Given the description of an element on the screen output the (x, y) to click on. 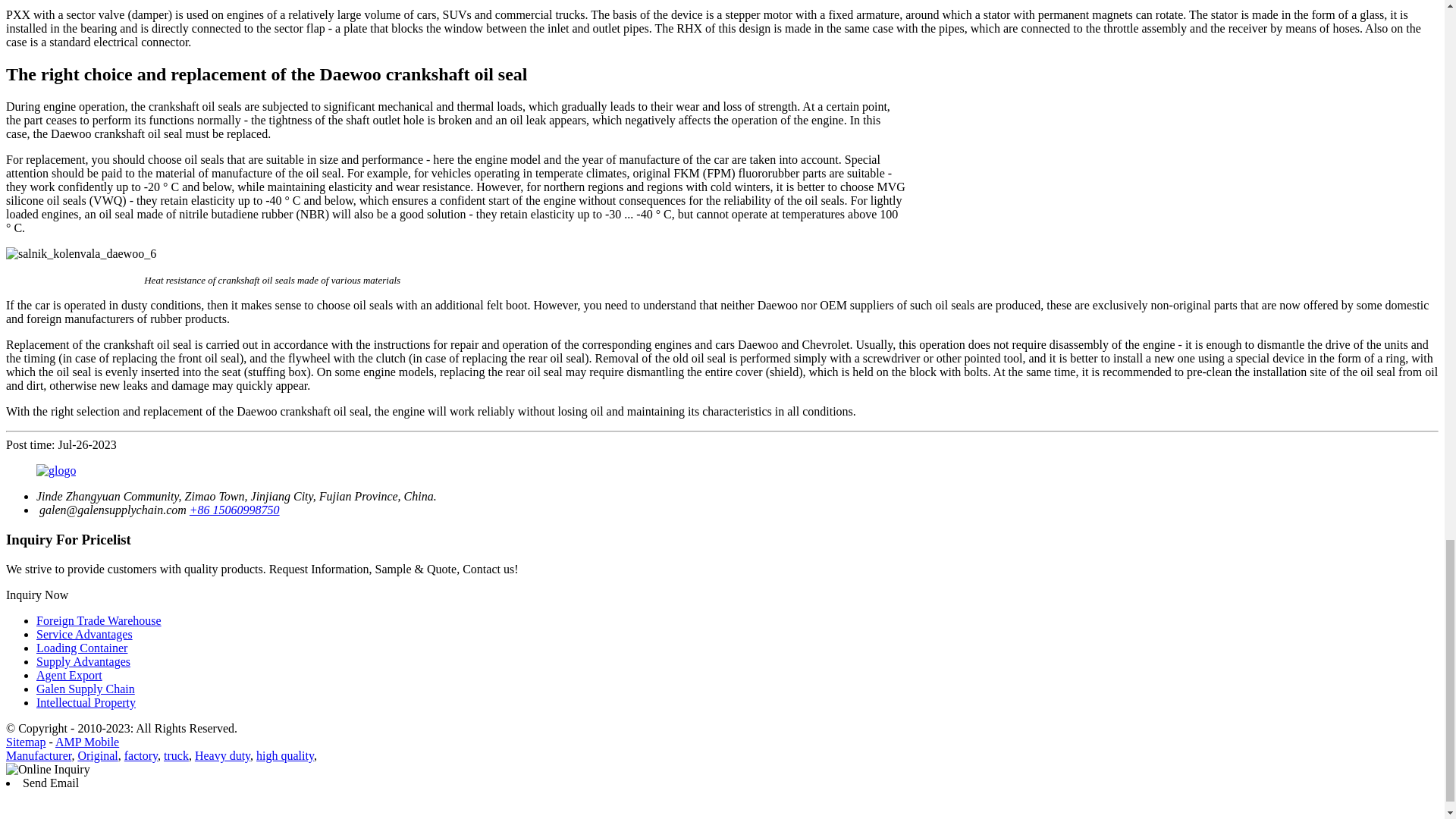
Sitemap (25, 741)
Send Email (50, 782)
factory (140, 755)
Galen Supply Chain (85, 688)
Original (97, 755)
Inquiry Now (36, 594)
factory (140, 755)
Heavy duty (222, 755)
truck (176, 755)
Heavy duty (222, 755)
